Given the description of an element on the screen output the (x, y) to click on. 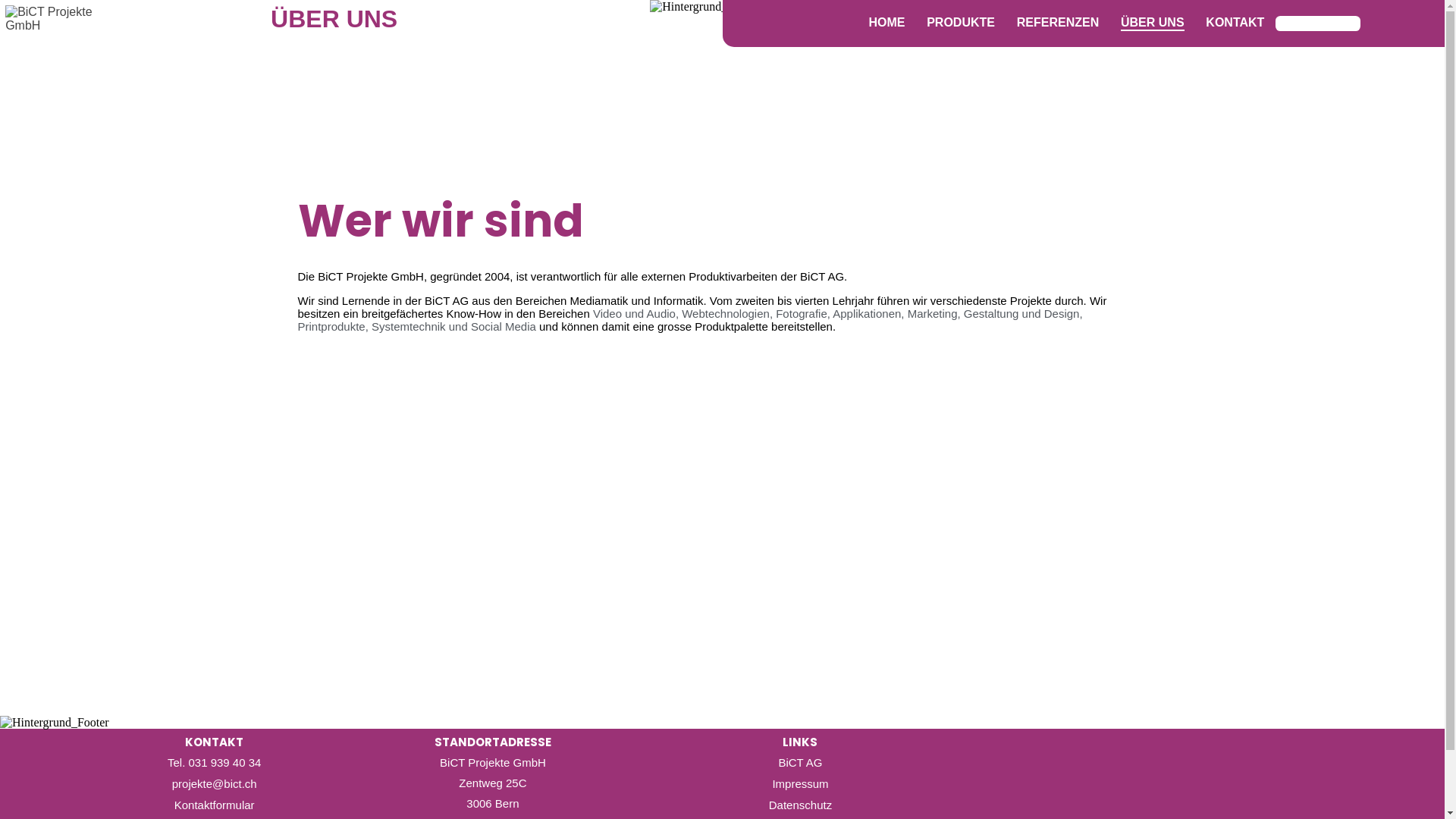
Impressum Element type: text (799, 783)
Datenschutz Element type: text (799, 804)
projekte@bict.ch Element type: text (213, 783)
KONTAKT Element type: text (1235, 23)
Tel. 031 939 40 34 Element type: text (213, 762)
REFERENZEN Element type: text (1057, 23)
HOME Element type: text (886, 23)
BiCT AG Element type: text (799, 762)
Kontaktformular Element type: text (213, 804)
PRODUKTE Element type: text (961, 23)
